Given the description of an element on the screen output the (x, y) to click on. 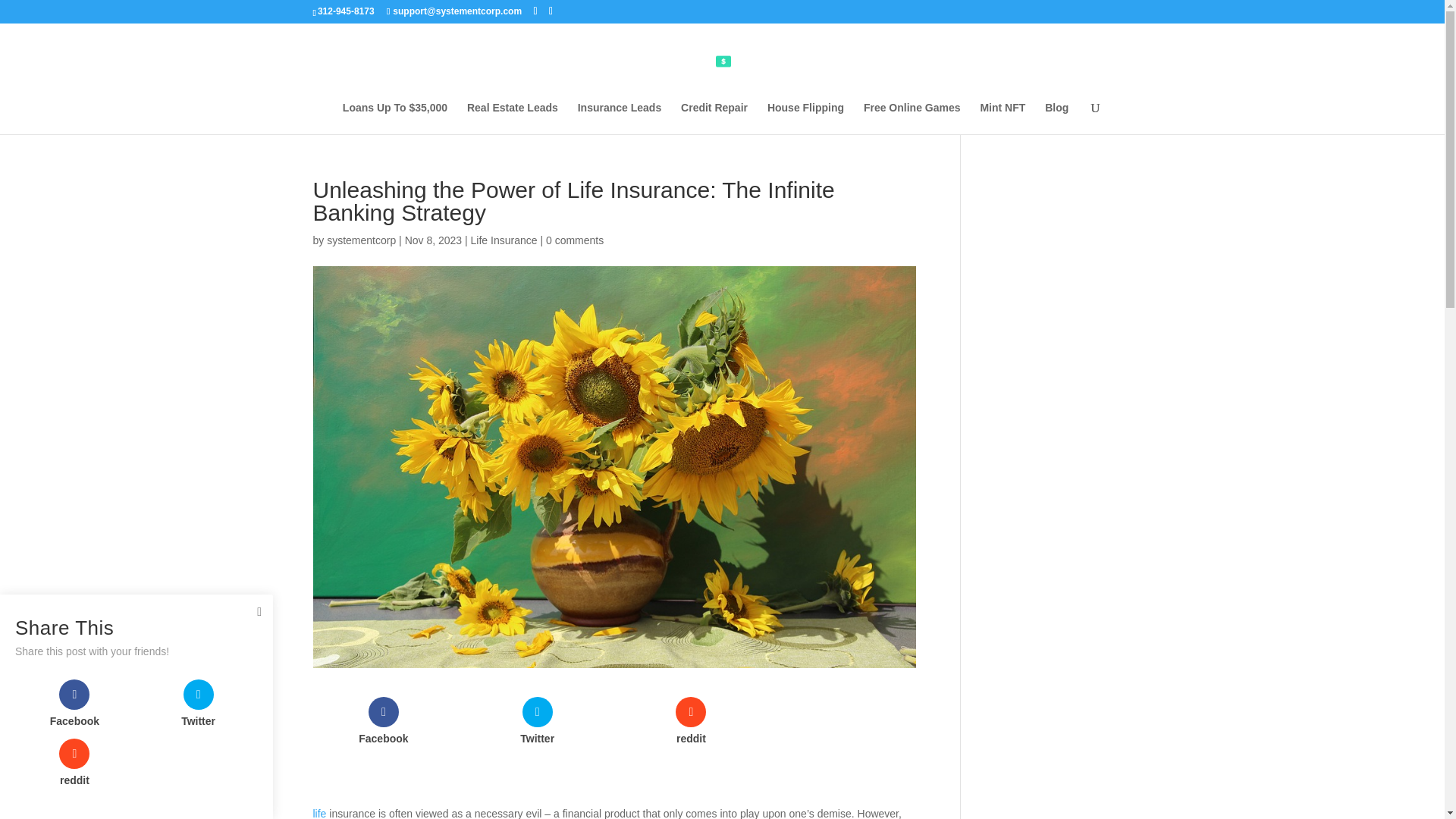
Posts by systementcorp (361, 240)
Life Insurance (503, 240)
life (319, 813)
reddit (690, 719)
House Flipping (805, 118)
Mint NFT (1002, 118)
Real Estate Leads (512, 118)
0 comments (575, 240)
Twitter (536, 719)
Free Online Games (911, 118)
systementcorp (361, 240)
Facebook (383, 719)
Credit Repair (714, 118)
Insurance Leads (620, 118)
